Given the description of an element on the screen output the (x, y) to click on. 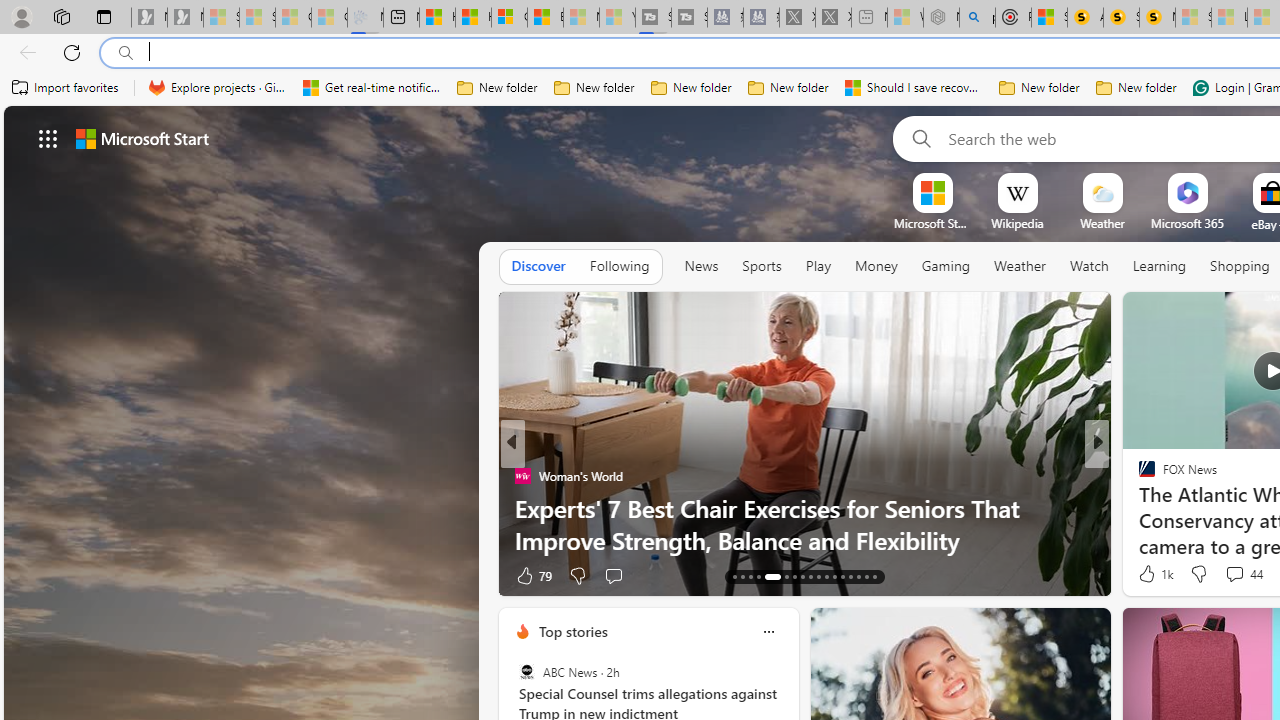
AutomationID: tab-15 (750, 576)
Top stories (572, 631)
Microsoft Start Sports (932, 223)
1k Like (1154, 574)
Microsoft start (142, 138)
Forge of Empires (1175, 507)
AutomationID: tab-24 (833, 576)
AutomationID: tab-29 (874, 576)
Play (817, 265)
The Kanso (1138, 475)
poe - Search (977, 17)
